Given the description of an element on the screen output the (x, y) to click on. 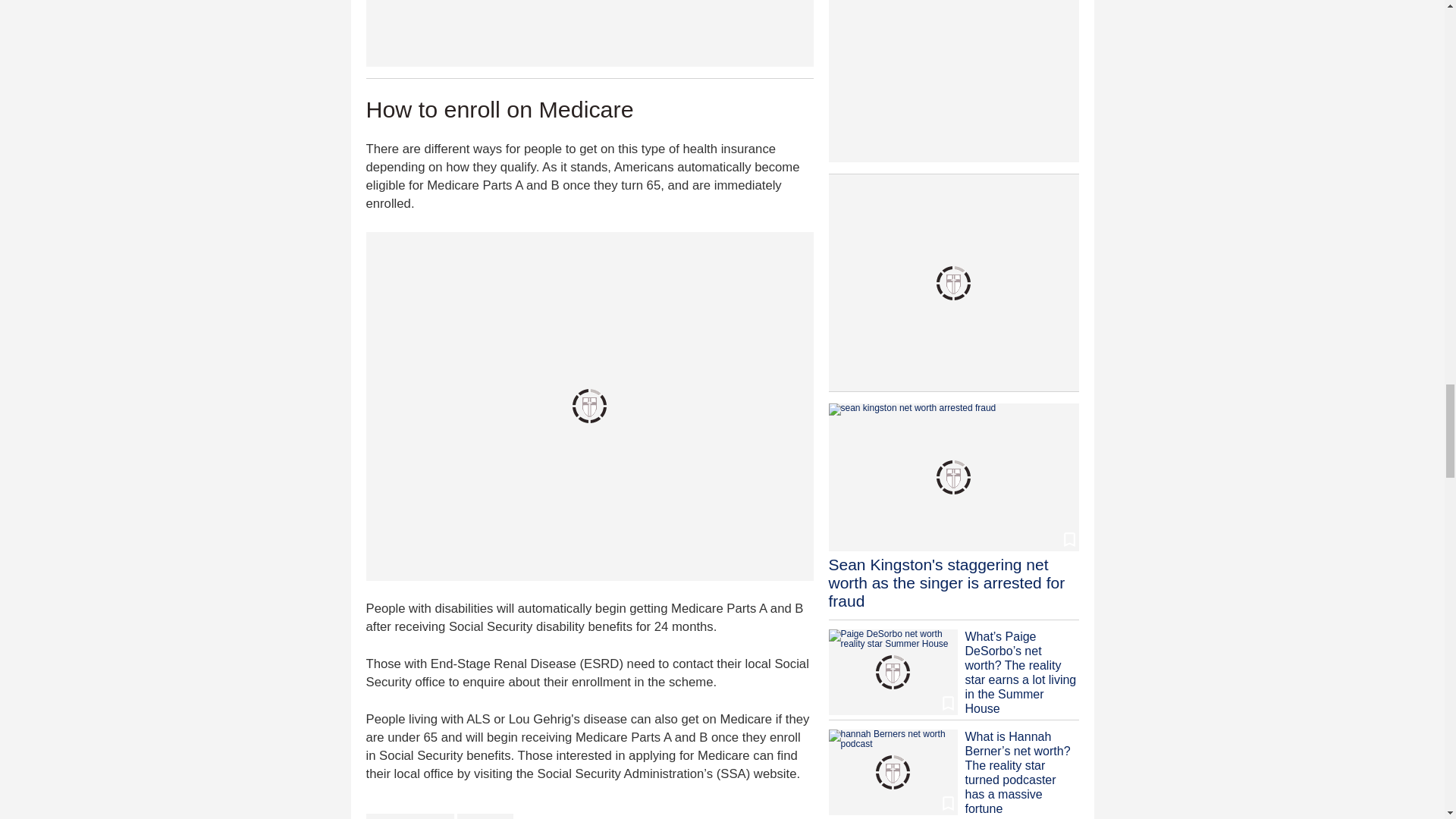
Social Security (409, 816)
Savings (485, 816)
